Given the description of an element on the screen output the (x, y) to click on. 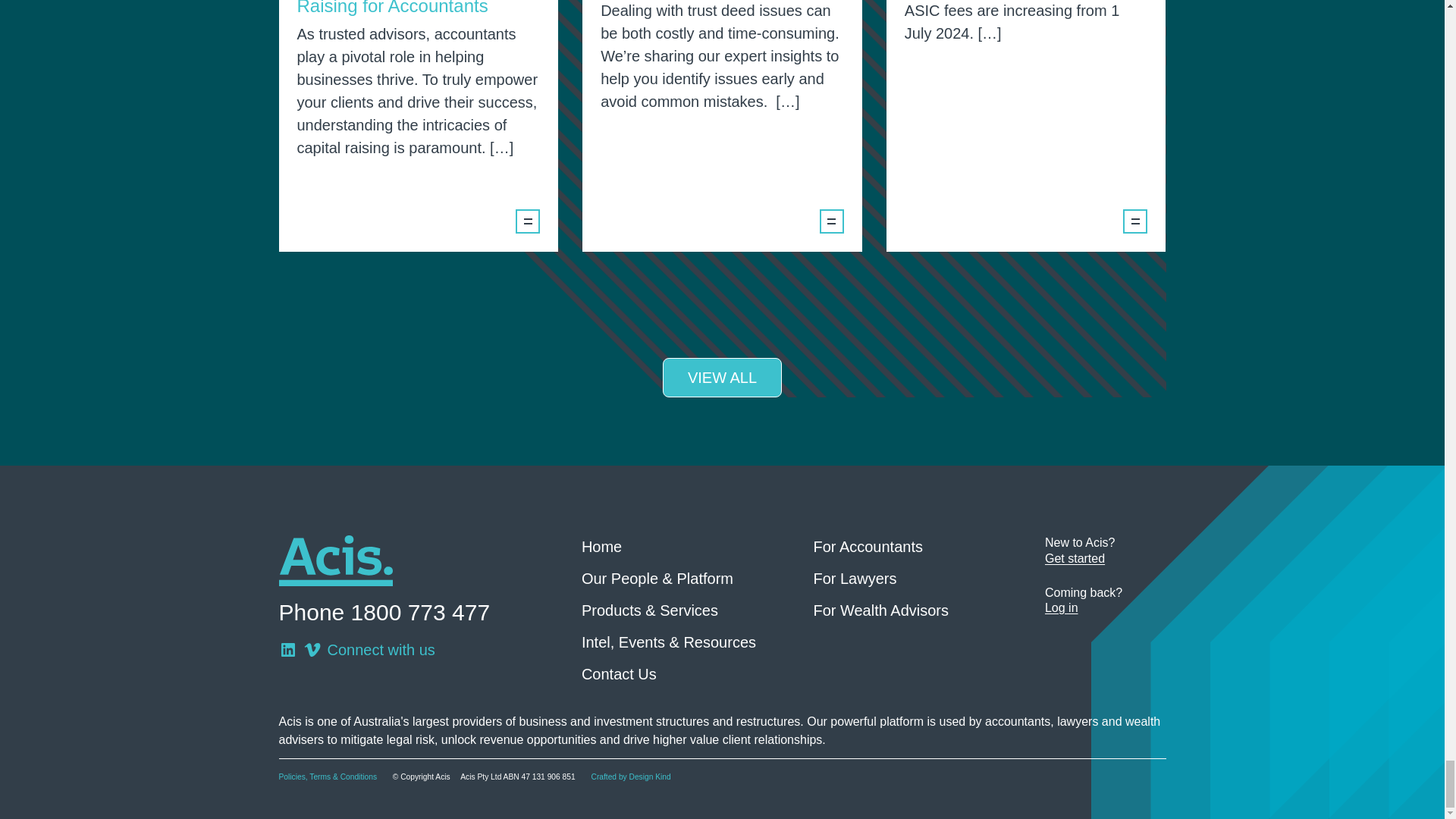
Read more (527, 221)
Acis (336, 560)
Read more (831, 221)
Read more (1134, 221)
